Given the description of an element on the screen output the (x, y) to click on. 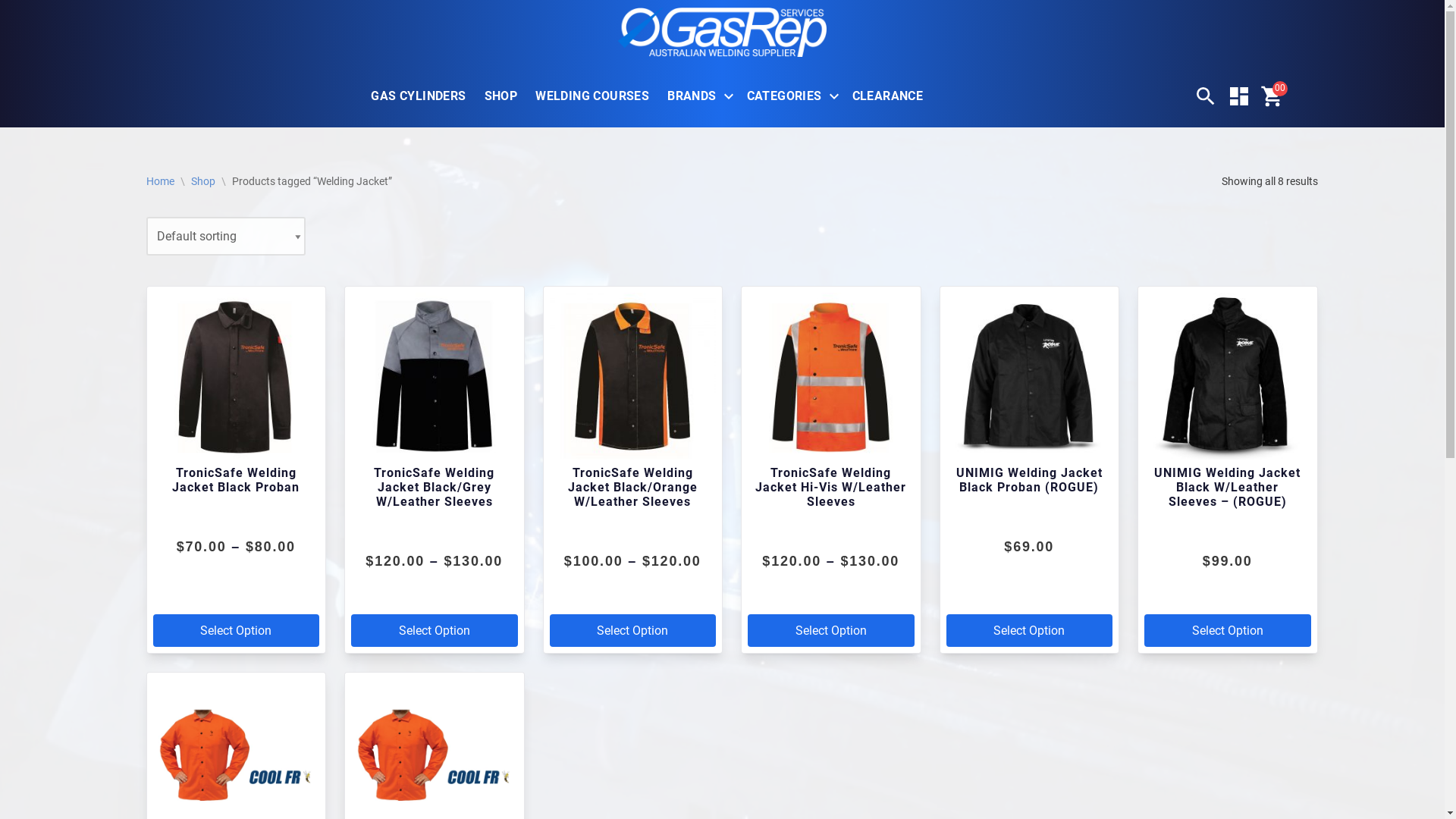
SHOP Element type: text (501, 95)
Shop Element type: text (203, 181)
Select Option Element type: text (632, 630)
UNIMIG Welding Jacket Black Proban (ROGUE)
$69.00 Element type: text (1029, 436)
Select Option Element type: text (236, 630)
CLEARANCE Element type: text (887, 95)
Select Option Element type: text (830, 630)
Home Element type: text (159, 181)
Select Option Element type: text (1227, 630)
Skip to content Element type: text (15, 31)
GAS CYLINDERS Element type: text (417, 95)
Select Option Element type: text (434, 630)
Select Option Element type: text (1029, 630)
WELDING COURSES Element type: text (592, 95)
00 Element type: text (1272, 96)
